Given the description of an element on the screen output the (x, y) to click on. 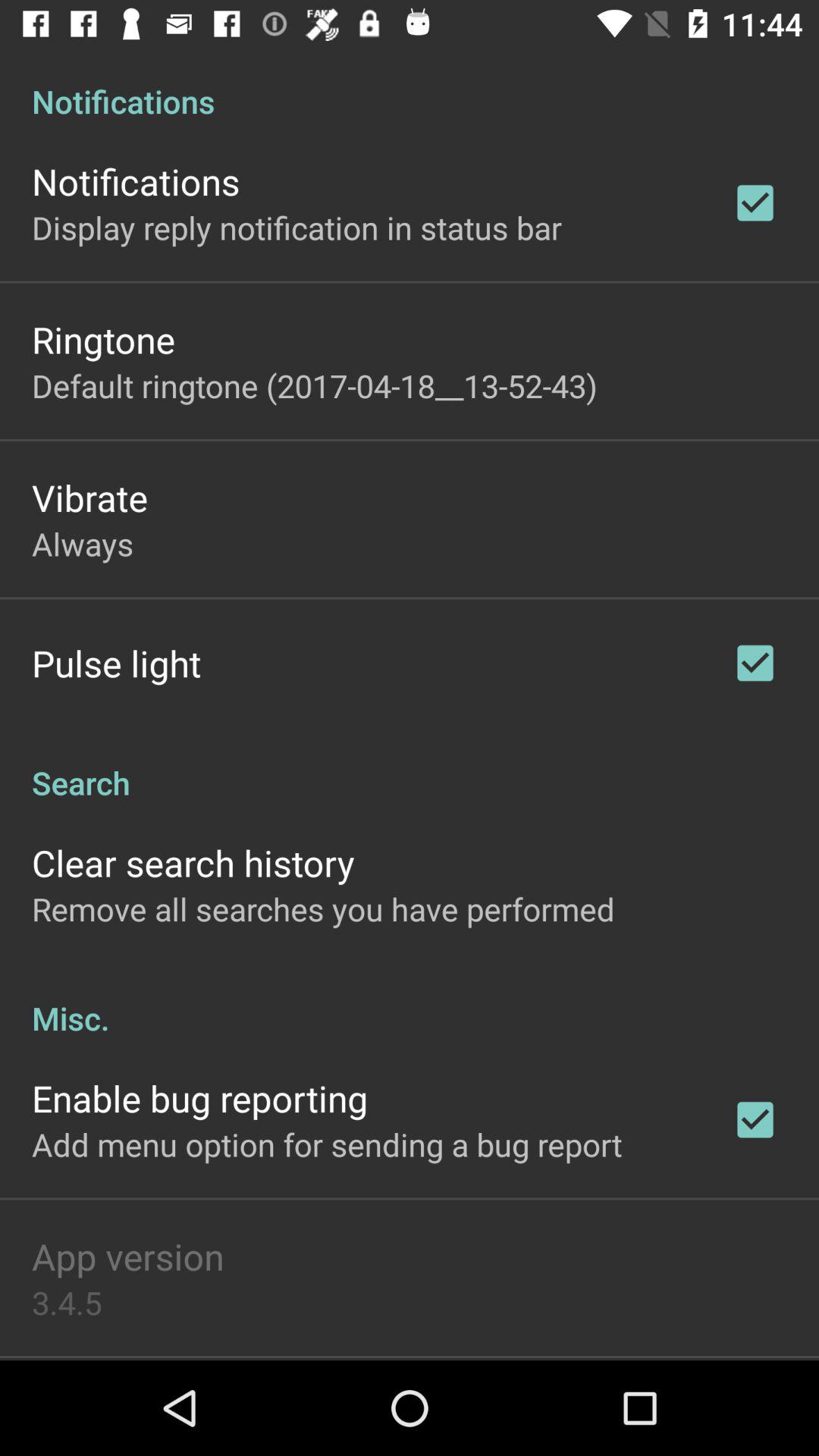
turn on icon above the remove all searches icon (192, 862)
